Given the description of an element on the screen output the (x, y) to click on. 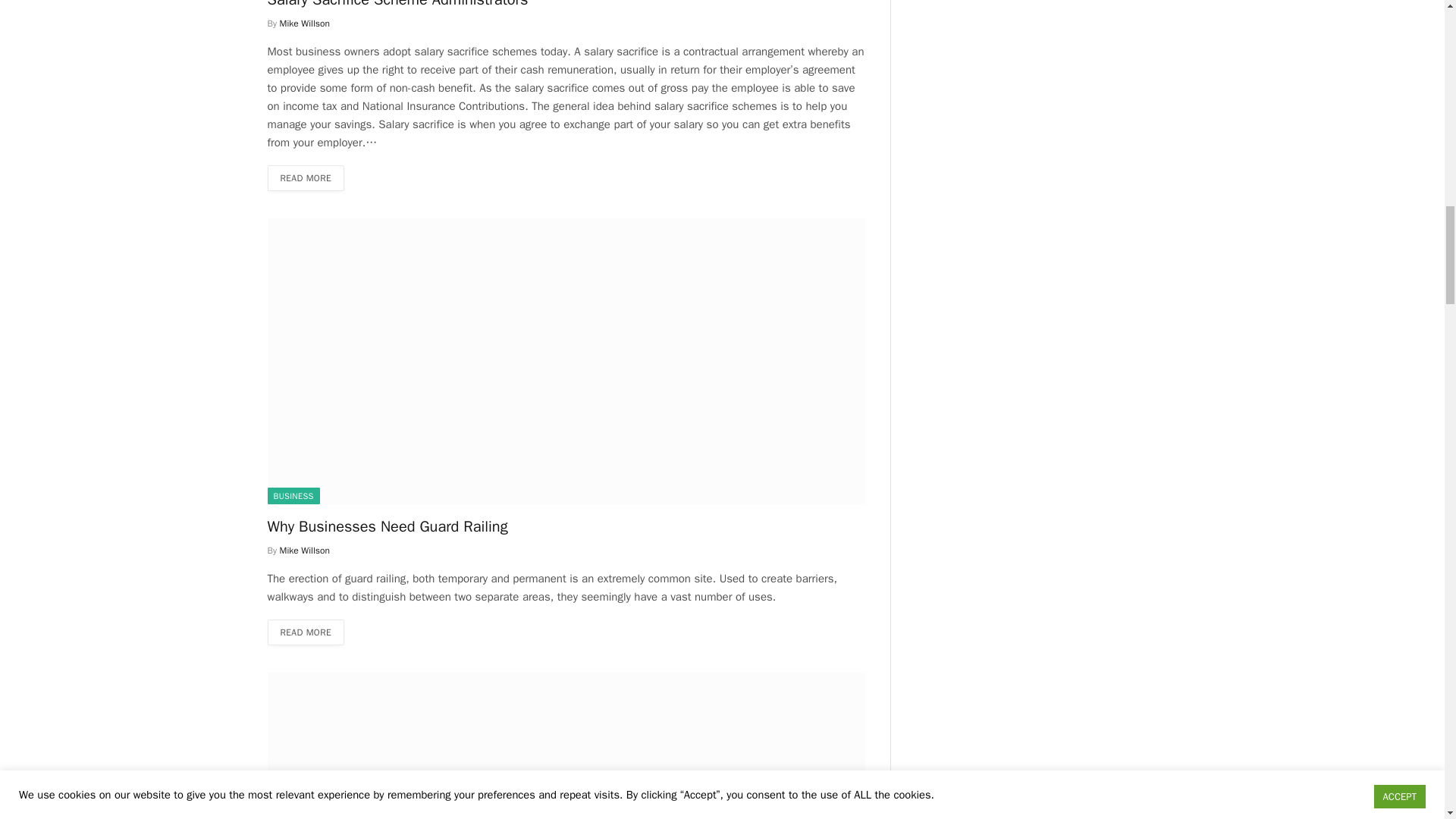
Posts by Mike Willson (304, 23)
READ MORE (304, 177)
Posts by Mike Willson (304, 550)
Mike Willson (304, 23)
Salary Sacrifice Scheme Administrators (565, 4)
